Given the description of an element on the screen output the (x, y) to click on. 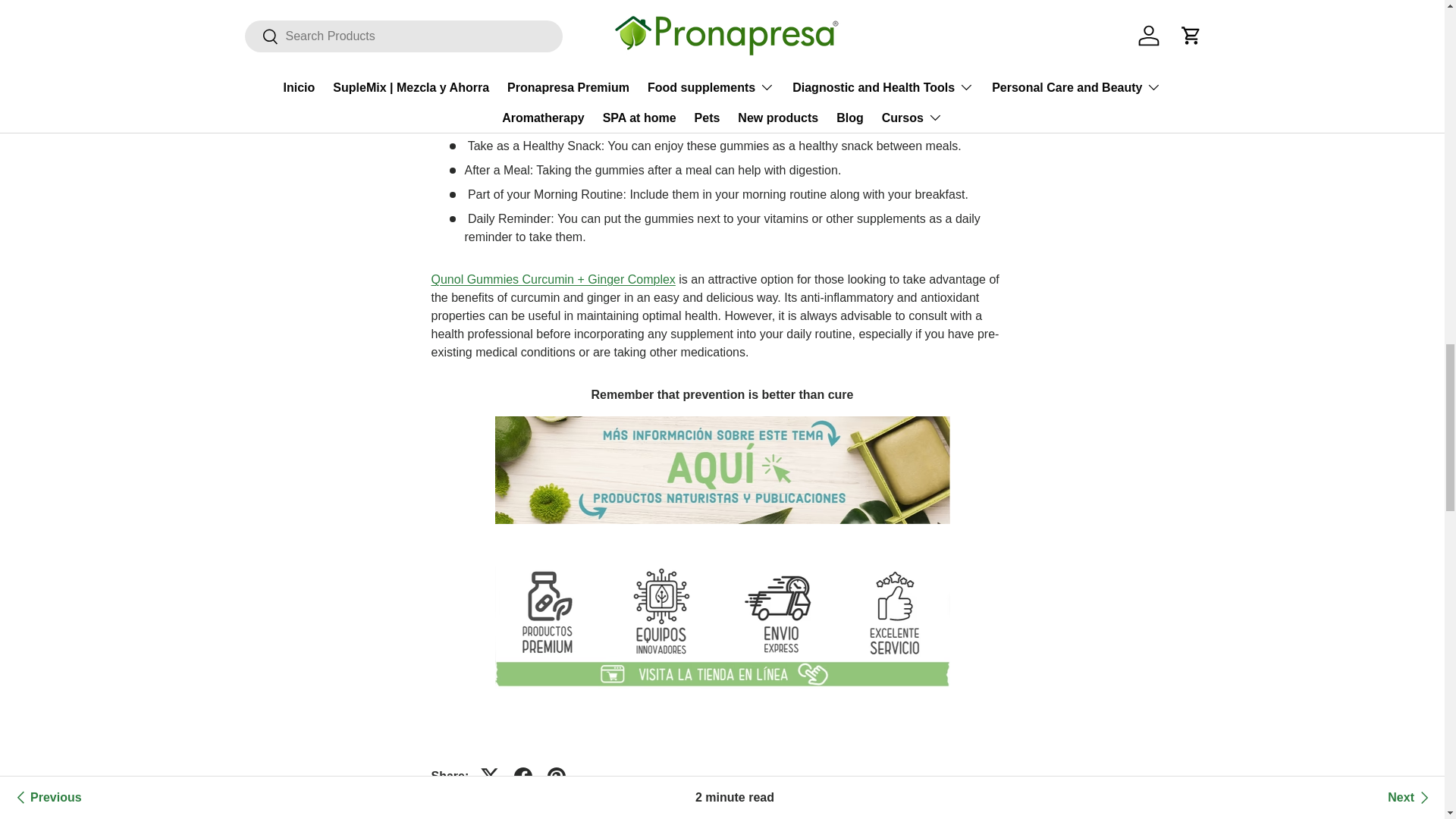
Pin on Pinterest (556, 776)
Visit the Pronapresa Health Store Online (722, 562)
Share on Facebook (523, 776)
Tweet on X (489, 776)
